Given the description of an element on the screen output the (x, y) to click on. 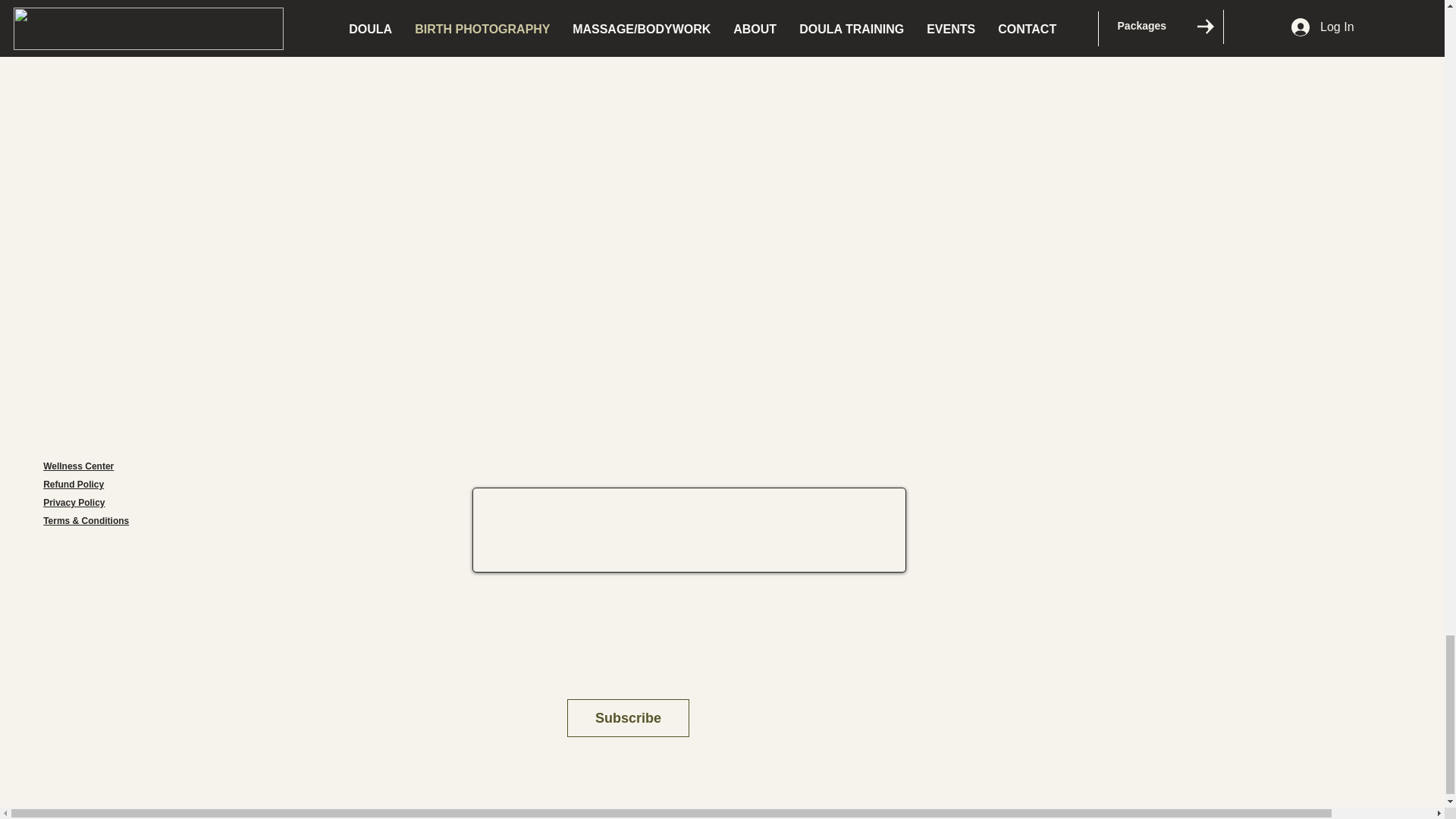
Wellness Center (78, 466)
Refund Policy (73, 484)
Privacy Policy (73, 502)
Subscribe (627, 718)
